Given the description of an element on the screen output the (x, y) to click on. 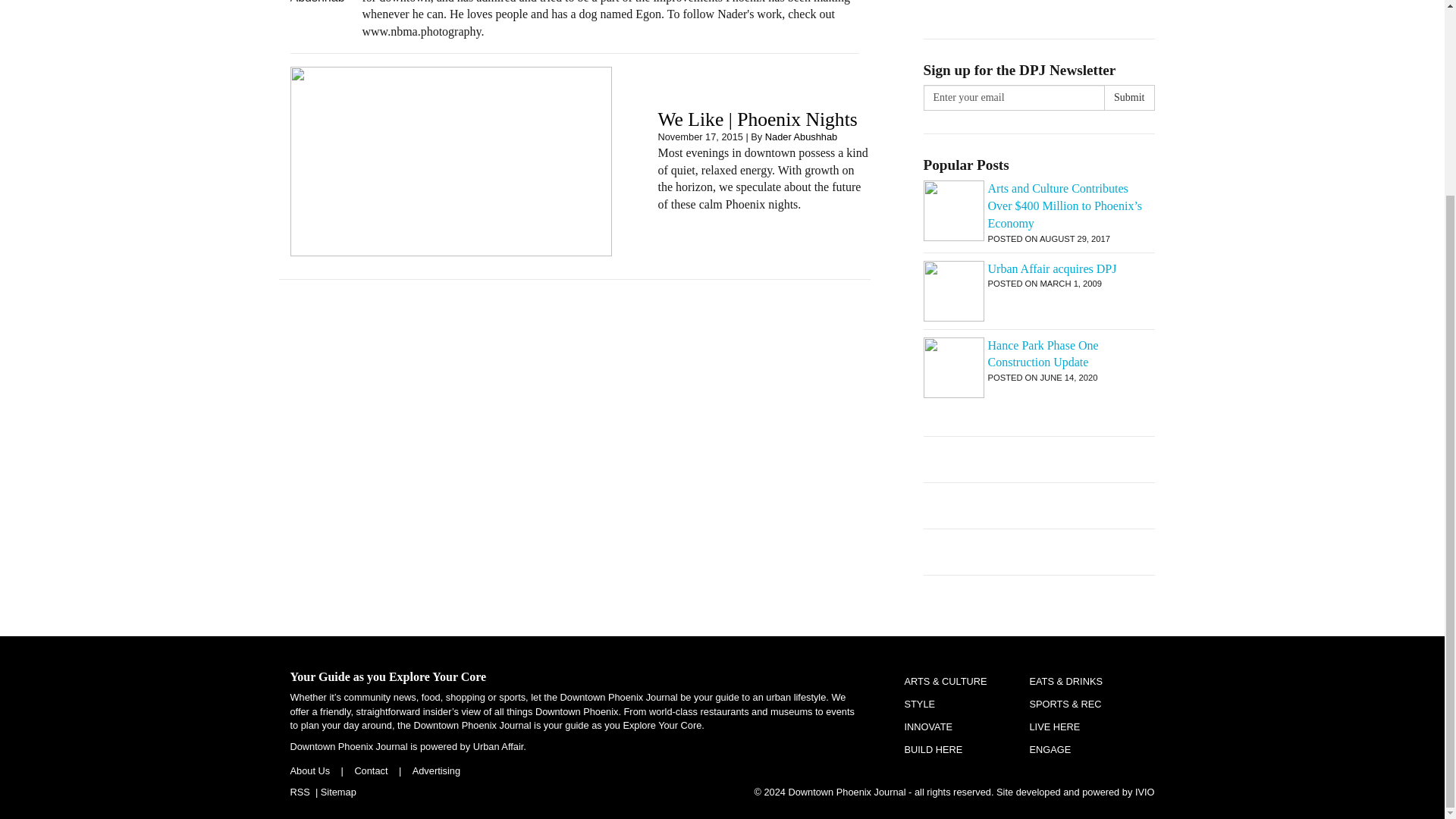
LIVE HERE (1054, 726)
Urban Affair acquires DPJ (1038, 269)
Nader Abushhab (801, 136)
Submit (1128, 97)
RSS (298, 791)
Posts by Nader Abushhab (801, 136)
BUILD HERE (933, 749)
Enter your email (1014, 97)
Urban Affair (498, 746)
Hance Park Phase One Construction Update (1038, 354)
ENGAGE (1049, 749)
Sitemap (338, 791)
Contact (370, 770)
STYLE (919, 704)
About Us (309, 770)
